Given the description of an element on the screen output the (x, y) to click on. 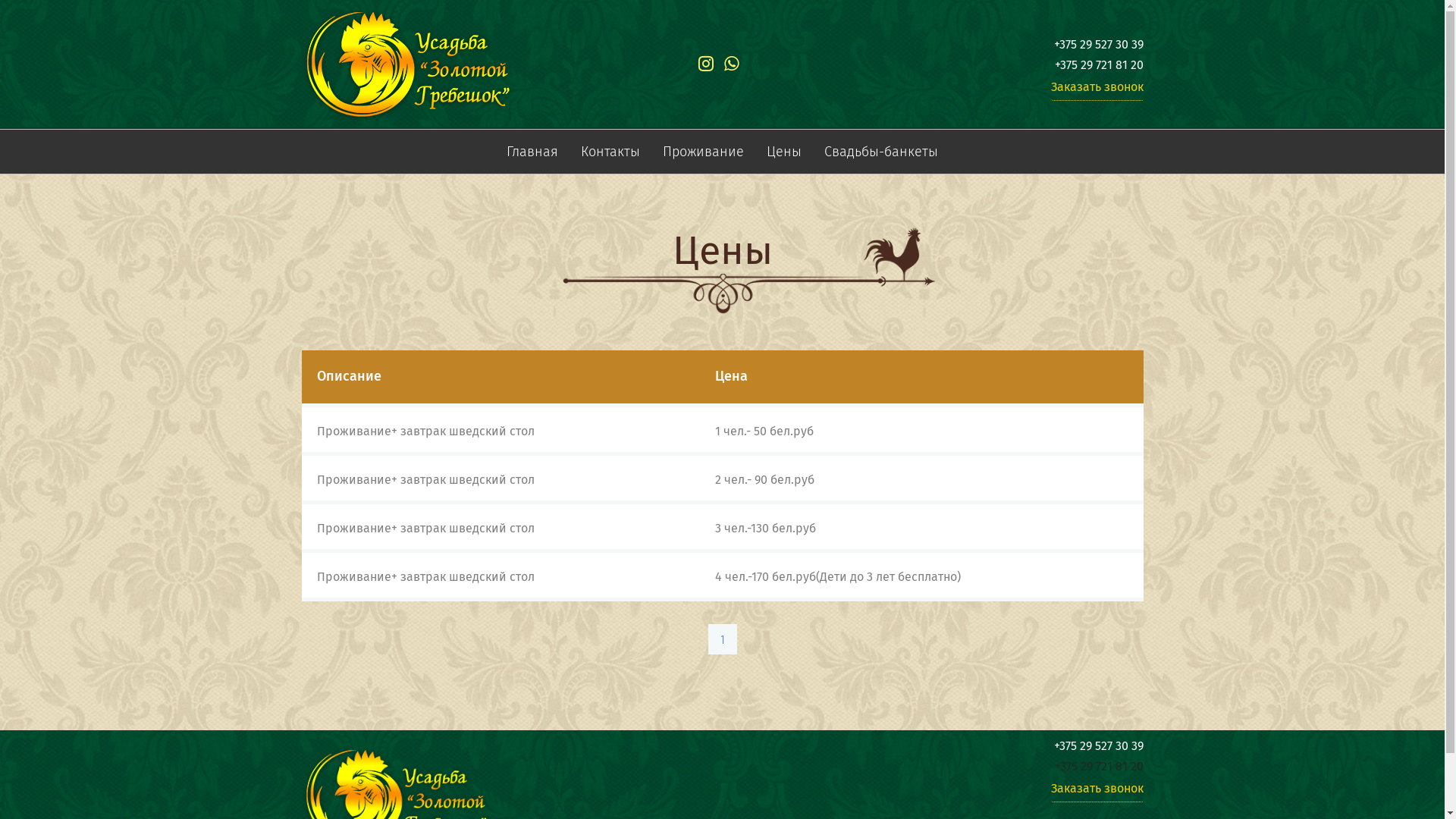
+375 29 527 30 39 Element type: text (1098, 745)
+375 29 527 30 39 Element type: text (1098, 43)
1 Element type: text (722, 639)
